Given the description of an element on the screen output the (x, y) to click on. 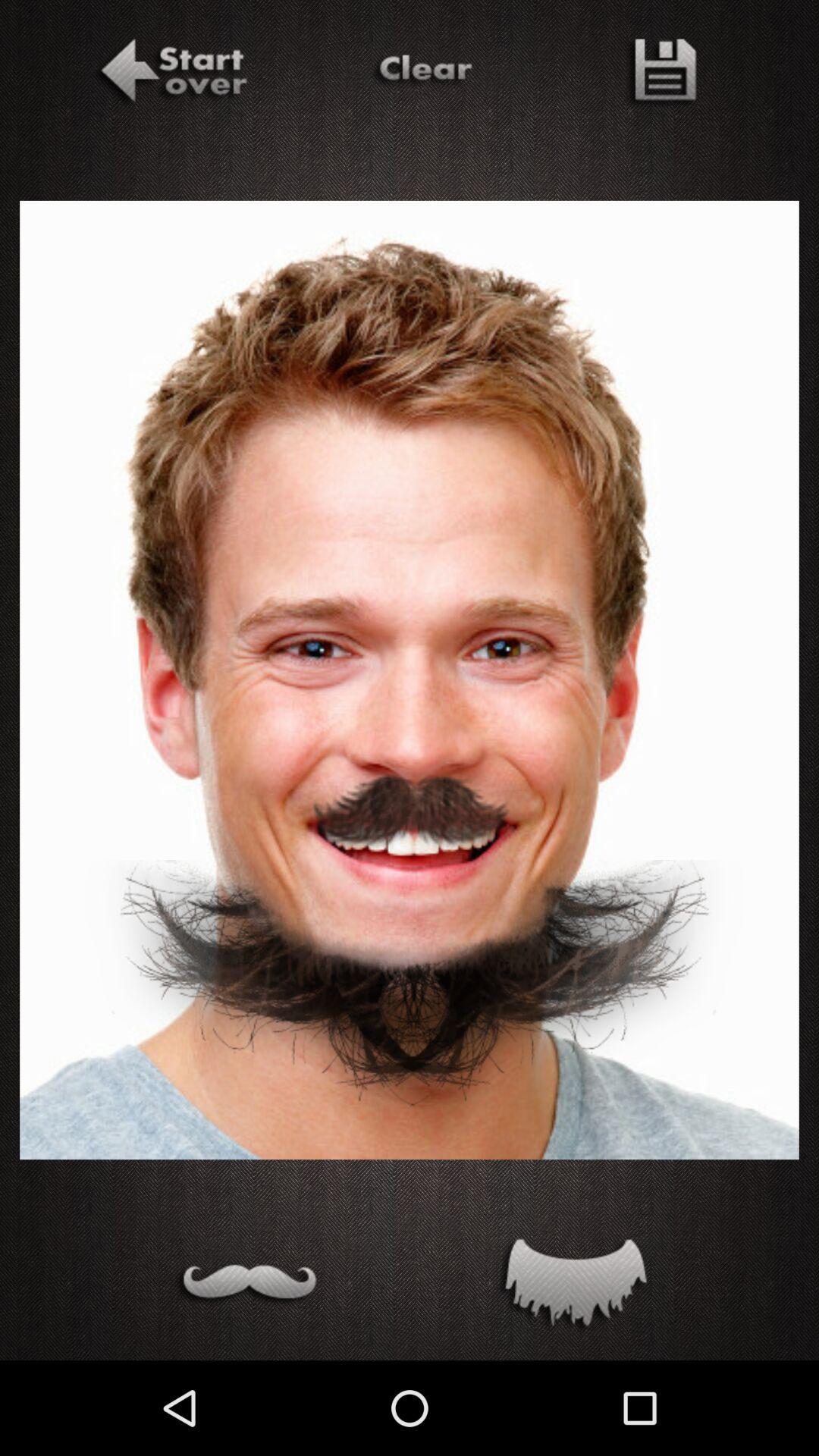
clear changes (422, 73)
